Given the description of an element on the screen output the (x, y) to click on. 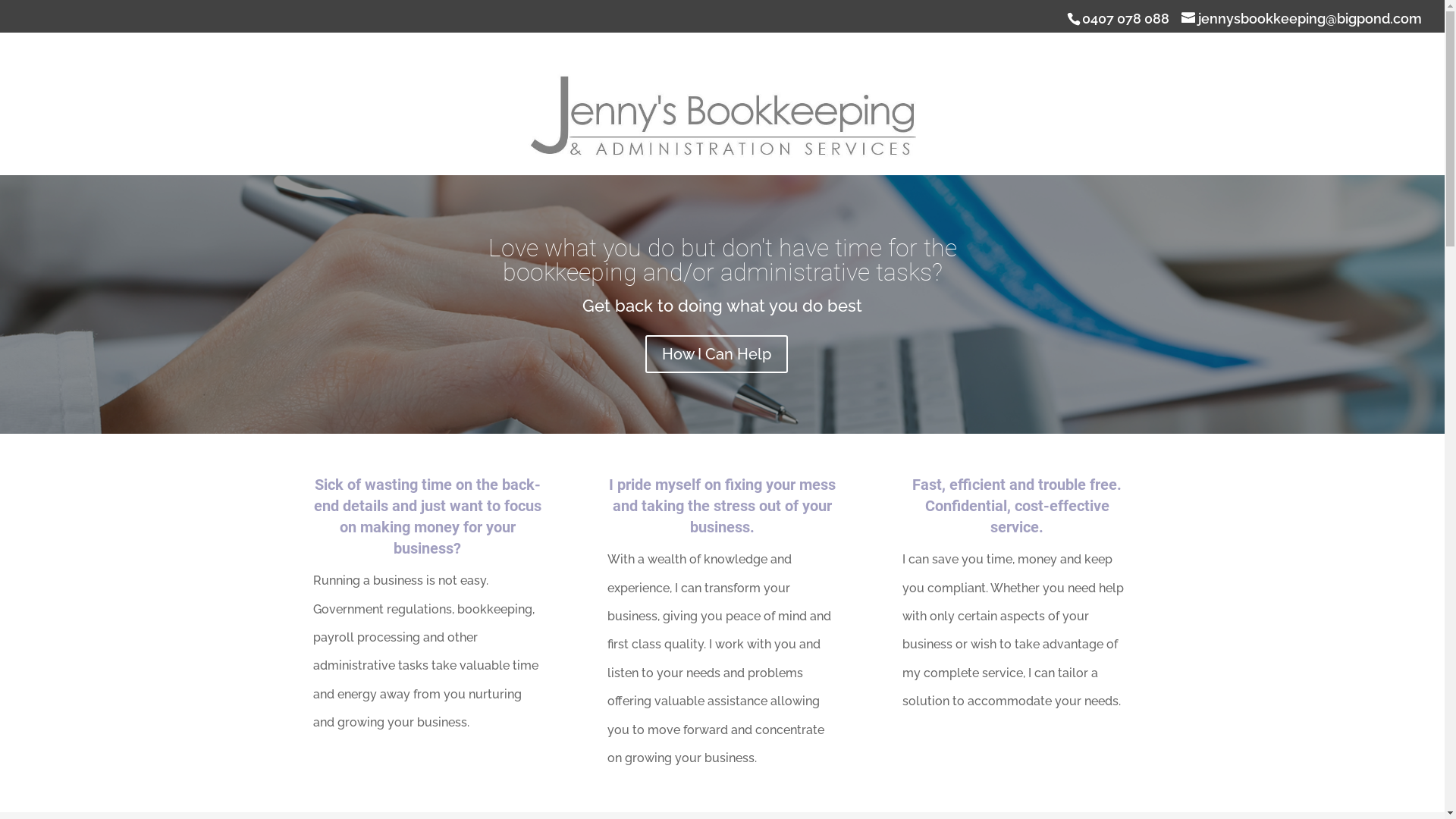
How I Can Help Element type: text (716, 354)
0407 078 088 Element type: text (1122, 18)
jennysbookkeeping@bigpond.com Element type: text (1301, 18)
